Given the description of an element on the screen output the (x, y) to click on. 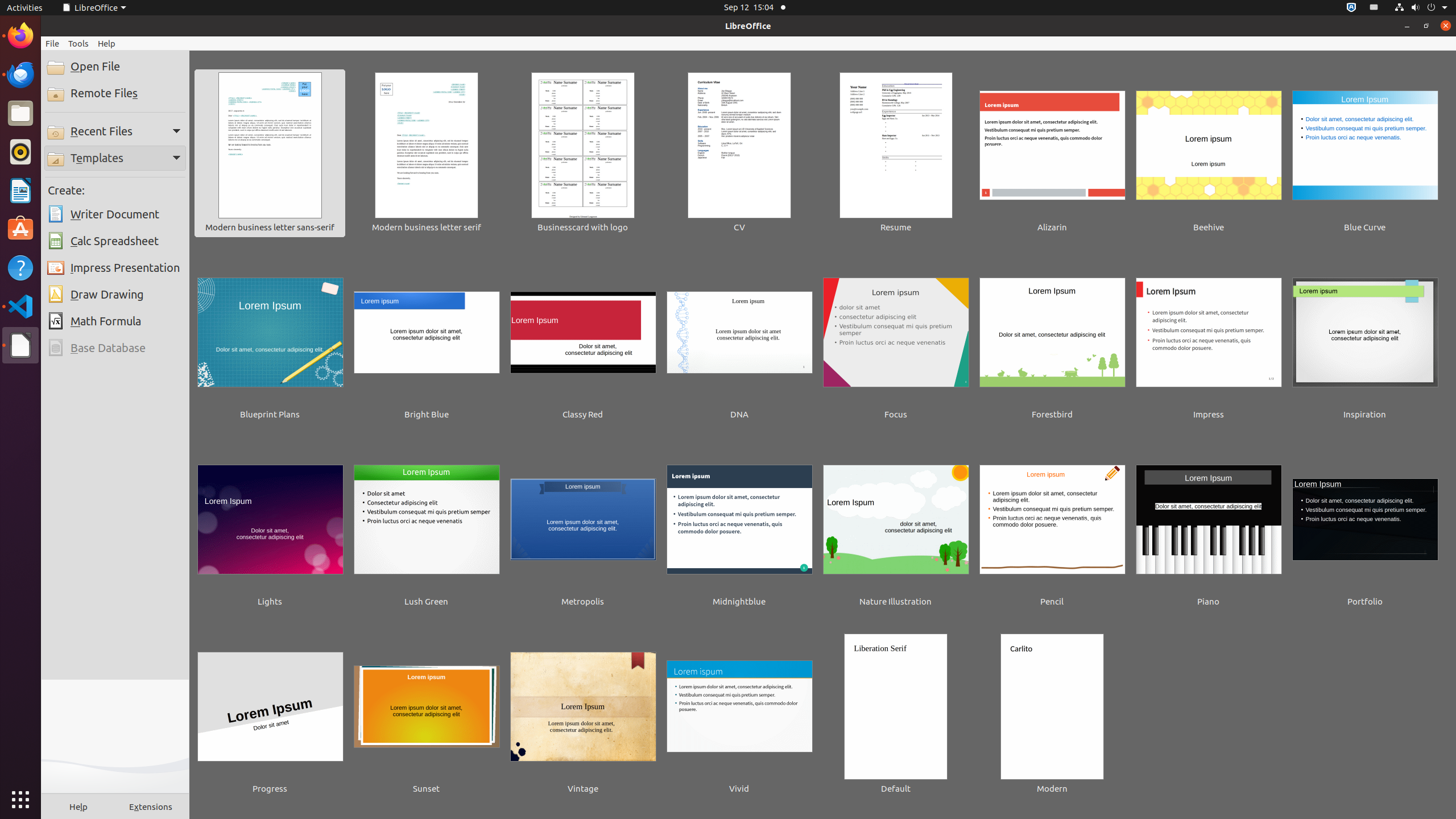
LibreOffice Element type: push-button (20, 344)
Nature Illustration Element type: list-item (895, 527)
Calc Spreadsheet Element type: push-button (114, 240)
Base Database Element type: push-button (114, 347)
